Given the description of an element on the screen output the (x, y) to click on. 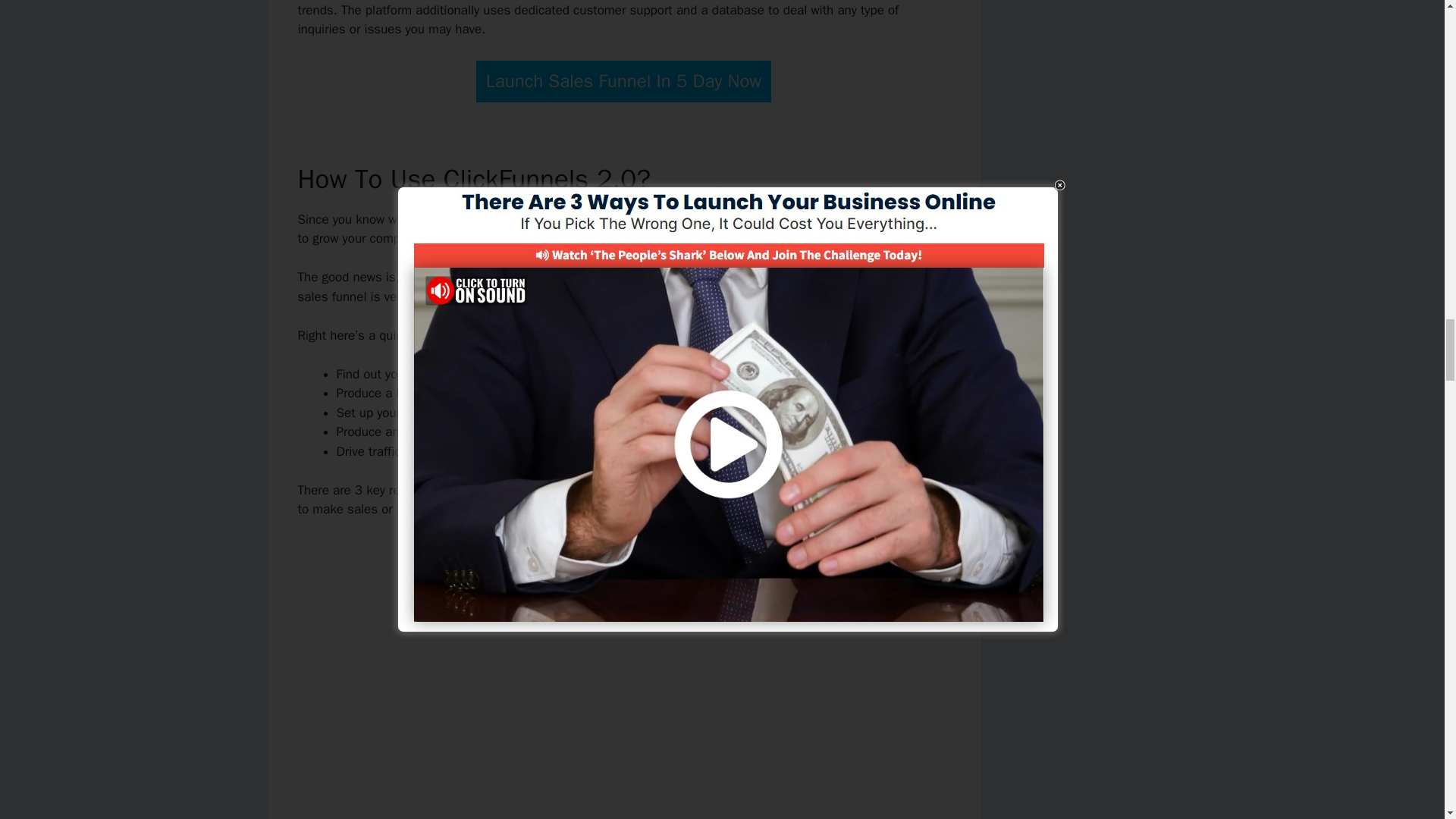
Launch Sales Funnel In 5 Day Now (623, 81)
